Given the description of an element on the screen output the (x, y) to click on. 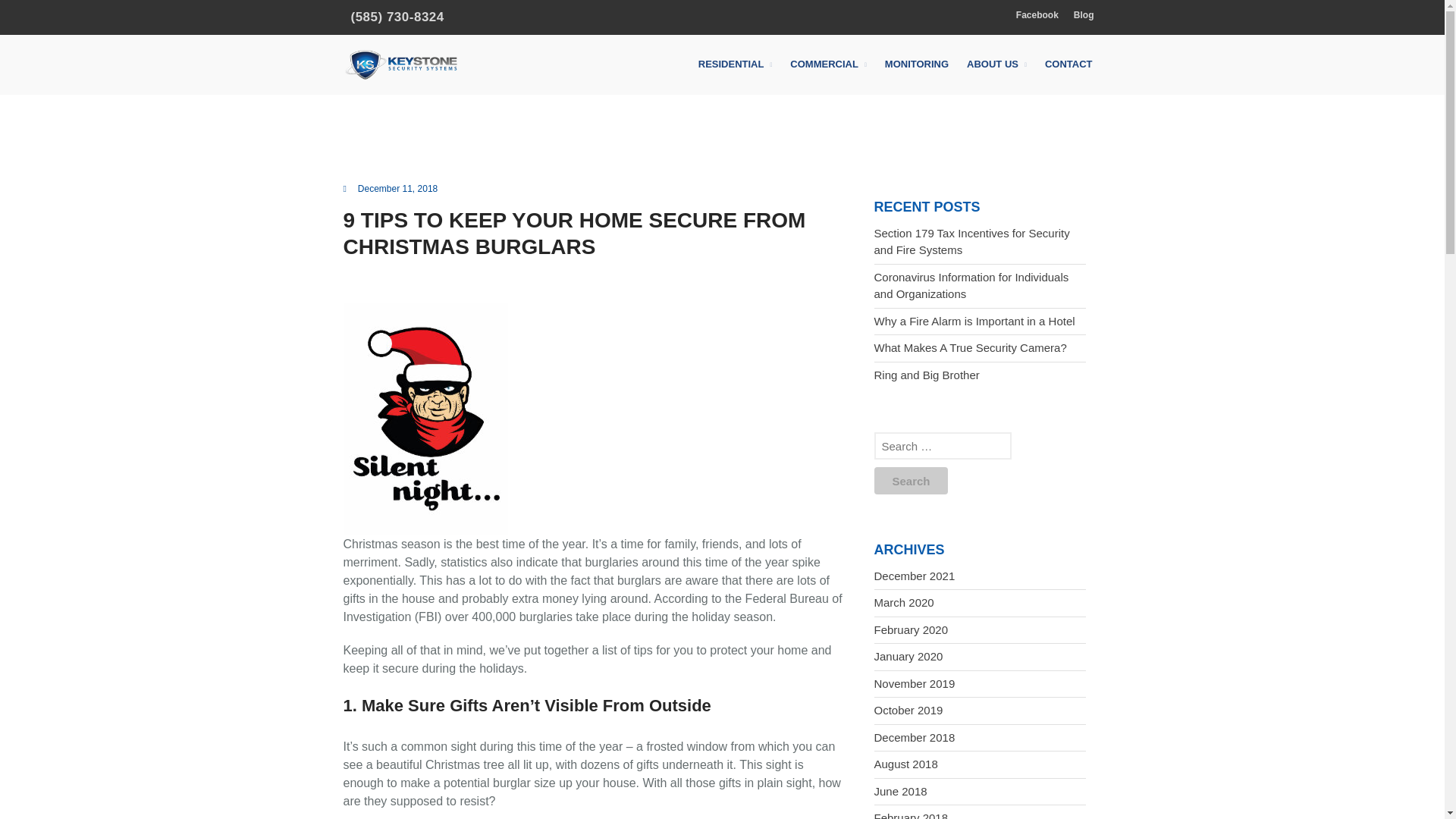
RESIDENTIAL (735, 64)
COMMERCIAL (828, 64)
CONTACT (1068, 64)
ABOUT US (996, 64)
MONITORING (916, 64)
Search (910, 480)
Keystone Security Systems (557, 73)
Search (910, 480)
Blog (1084, 15)
Facebook (1037, 15)
